Given the description of an element on the screen output the (x, y) to click on. 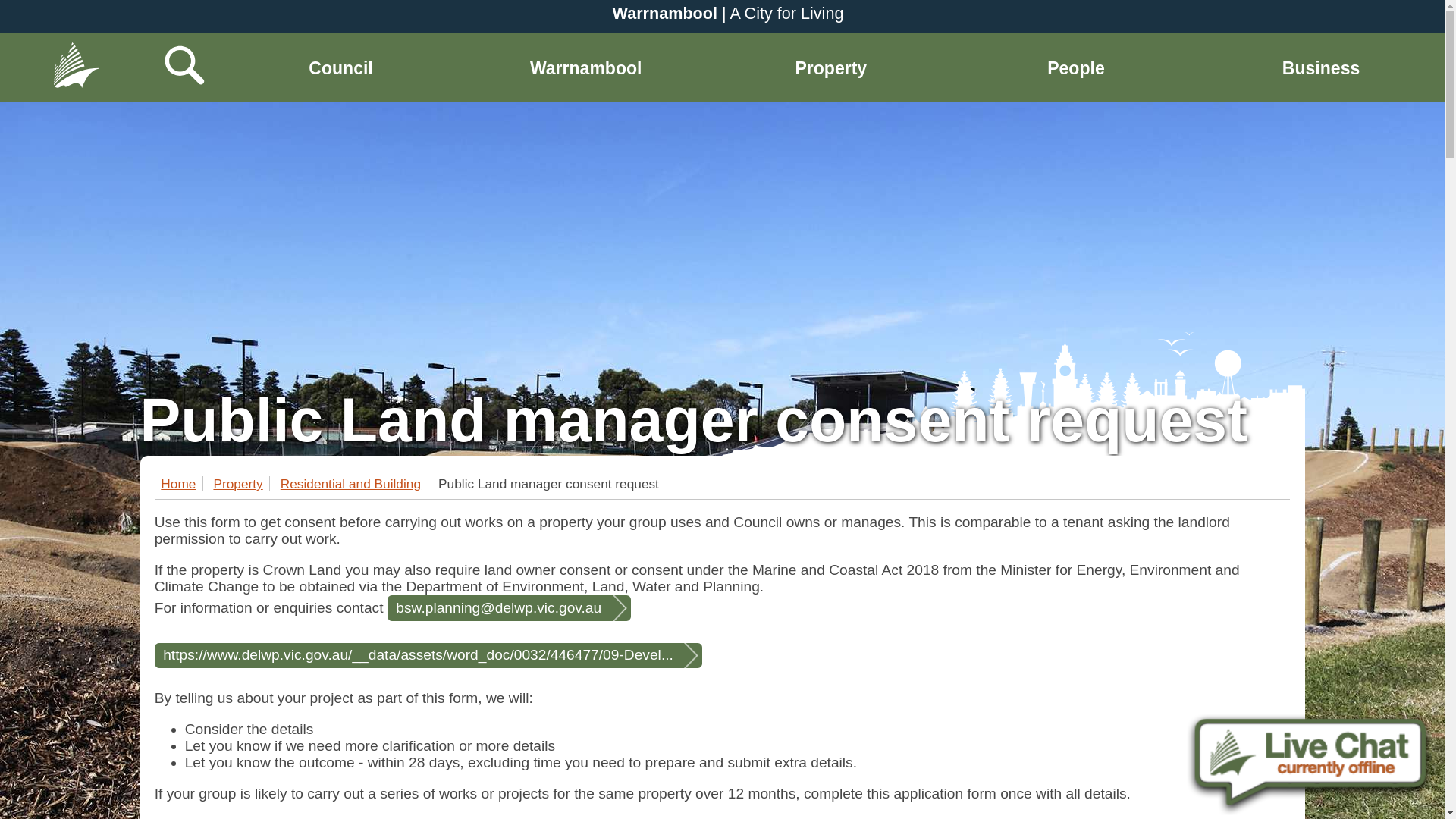
People (1075, 66)
Residential and Building (354, 483)
Council (340, 66)
Business (1320, 66)
Property (240, 483)
Home (181, 483)
Warrnambool (585, 66)
Home (76, 37)
Property (830, 66)
